Given the description of an element on the screen output the (x, y) to click on. 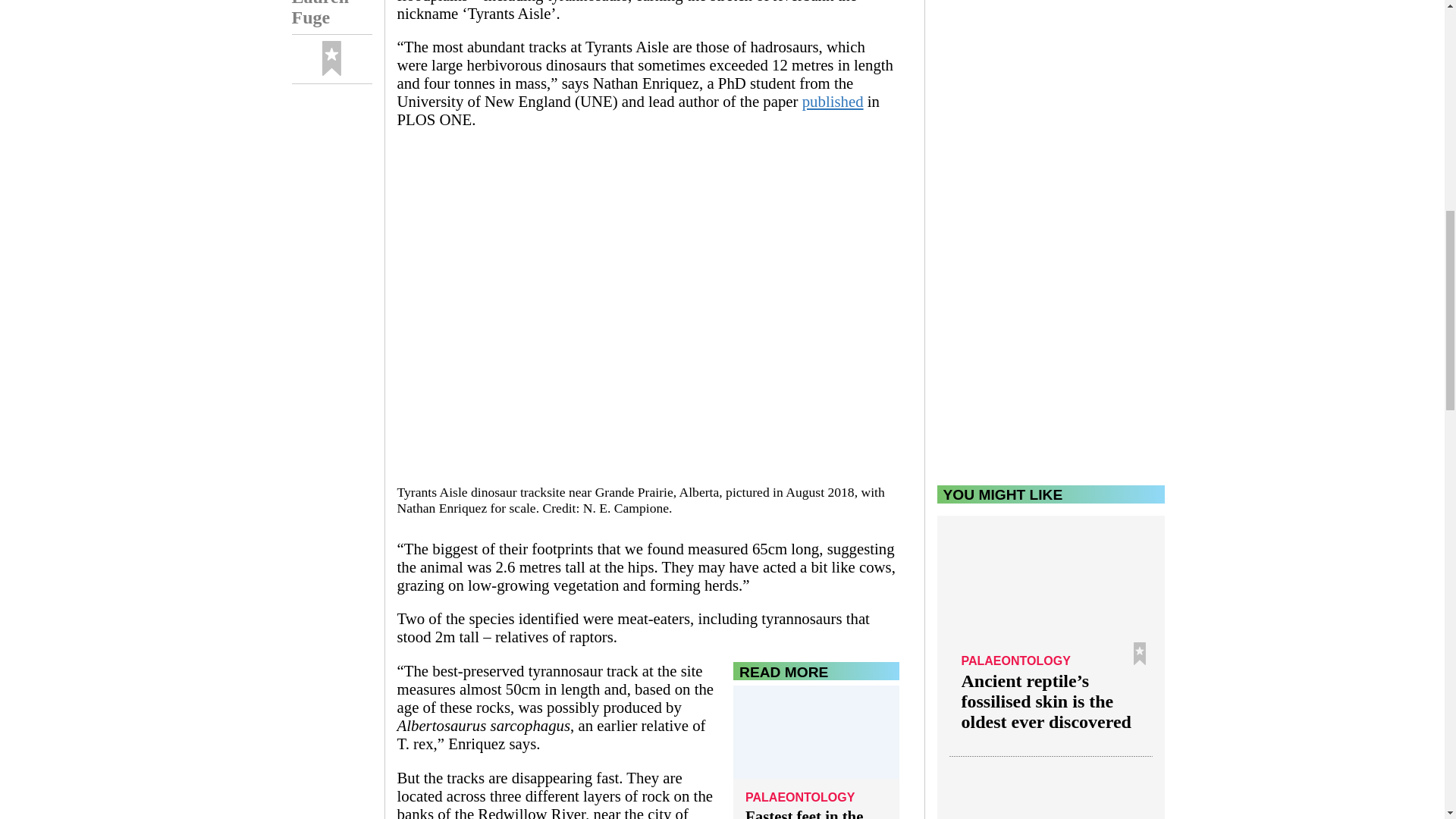
PALAEONTOLOGY (815, 799)
published (832, 100)
Lauren Fuge (331, 17)
